Given the description of an element on the screen output the (x, y) to click on. 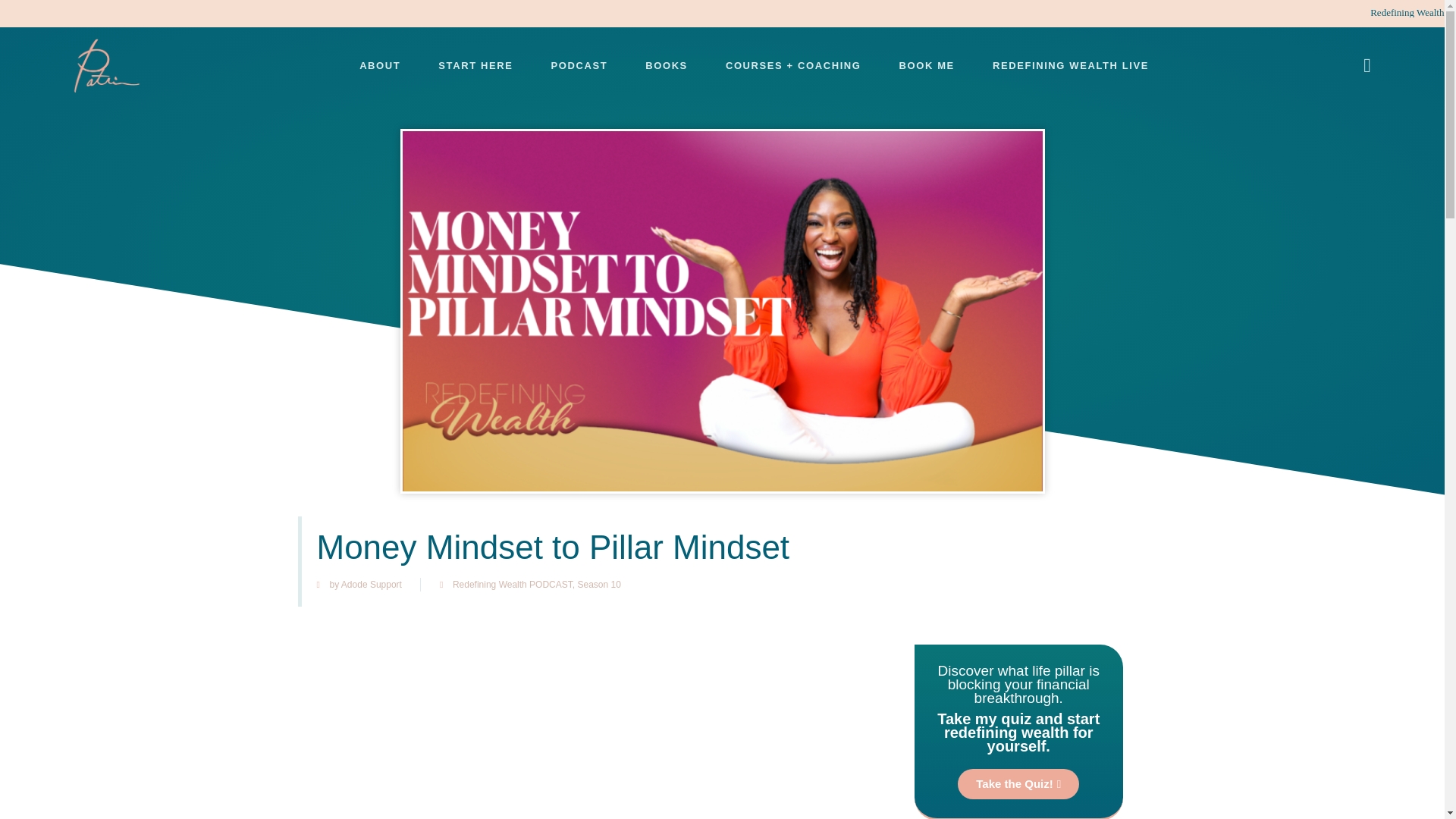
START HERE (475, 65)
REDEFINING WEALTH LIVE (1070, 65)
BOOK ME (927, 65)
ABOUT (379, 65)
BOOKS (666, 65)
PODCAST (578, 65)
YouTube video player (593, 735)
